Given the description of an element on the screen output the (x, y) to click on. 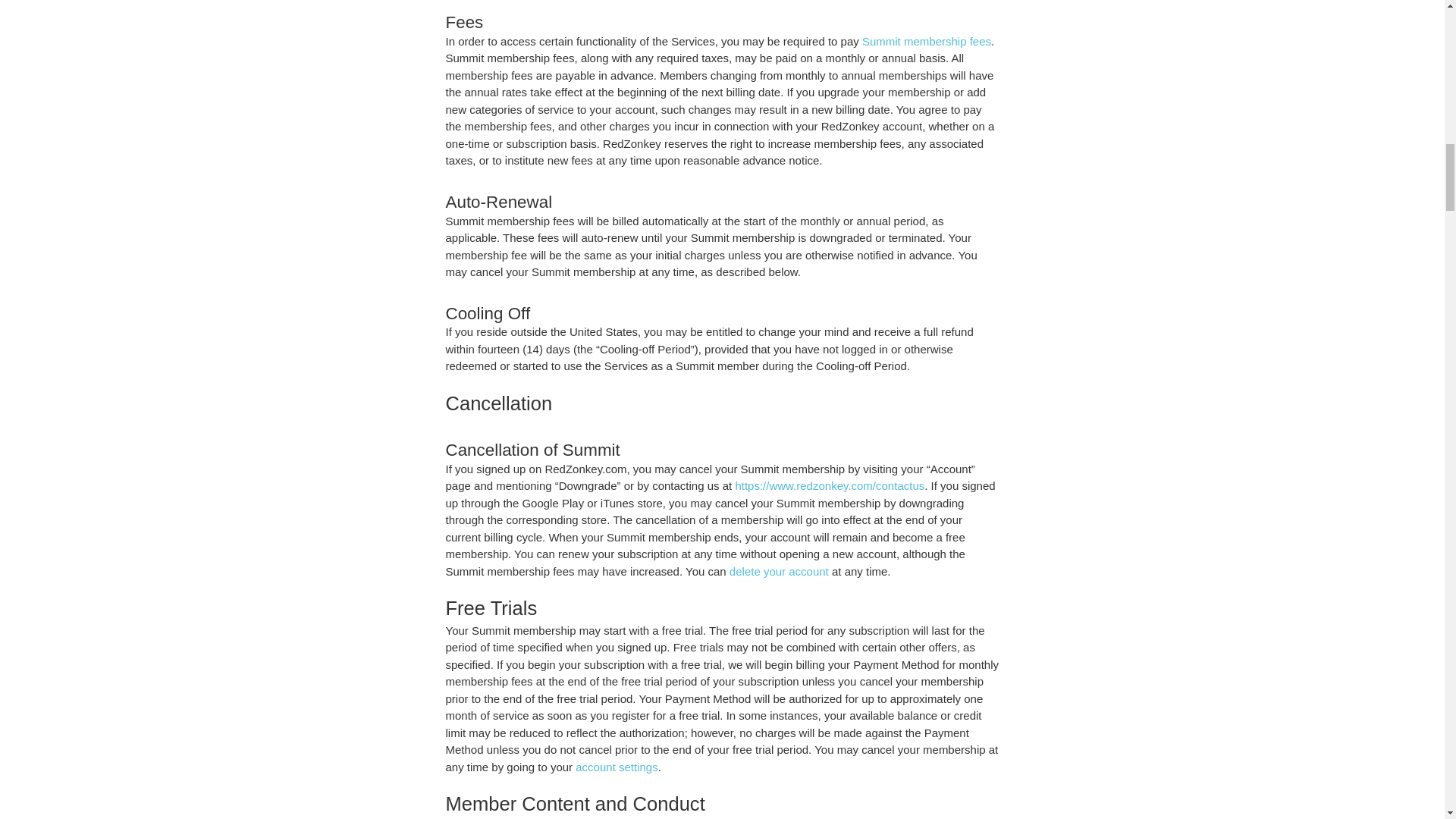
Summit membership fees (926, 41)
delete your account (778, 571)
account settings (616, 766)
